Given the description of an element on the screen output the (x, y) to click on. 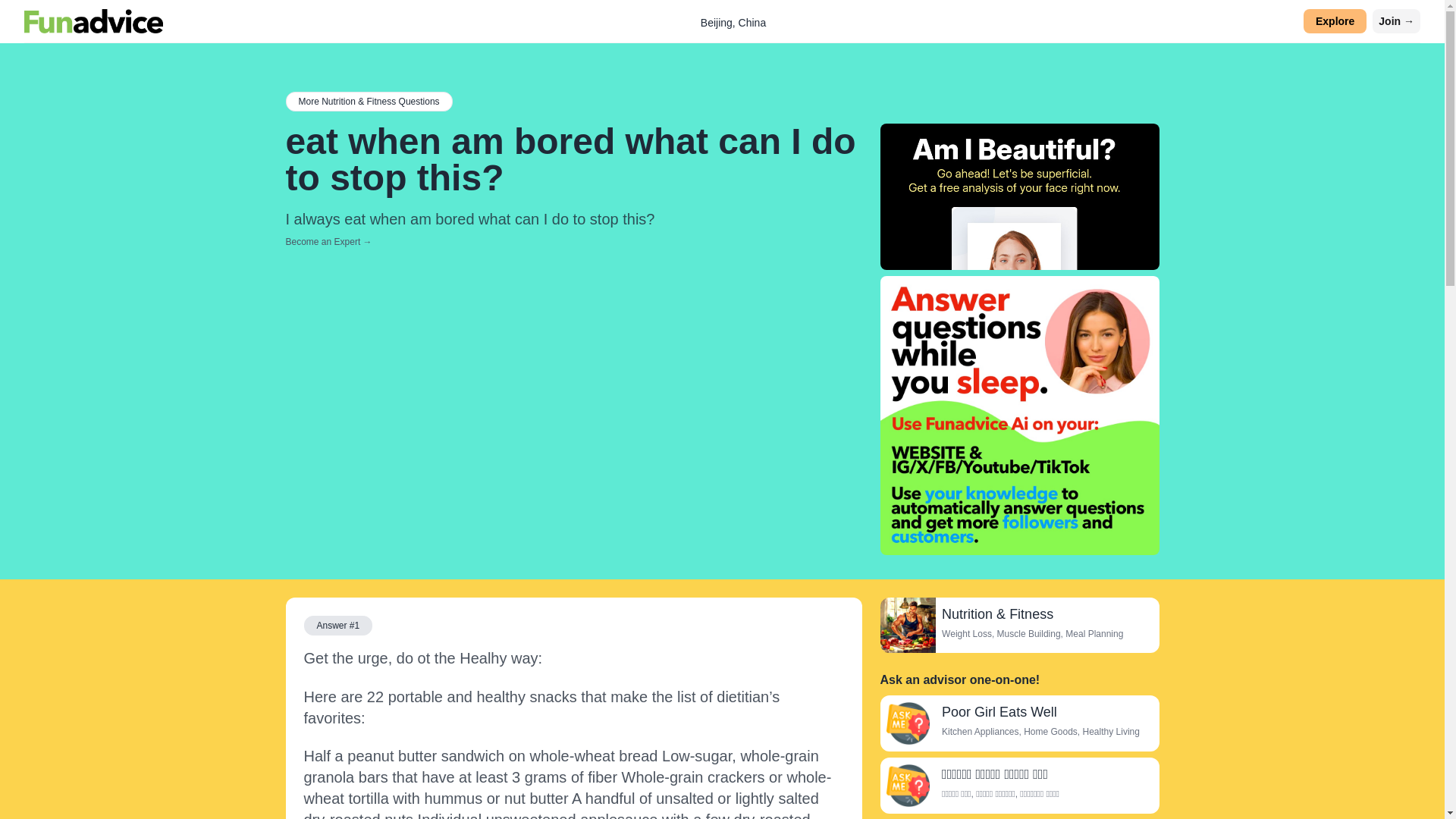
Poor Girl Eats Well (999, 711)
Explore (1335, 21)
Funadvice Home (93, 21)
Beijing, China (732, 22)
Poor Girl Eats Well (907, 723)
